Given the description of an element on the screen output the (x, y) to click on. 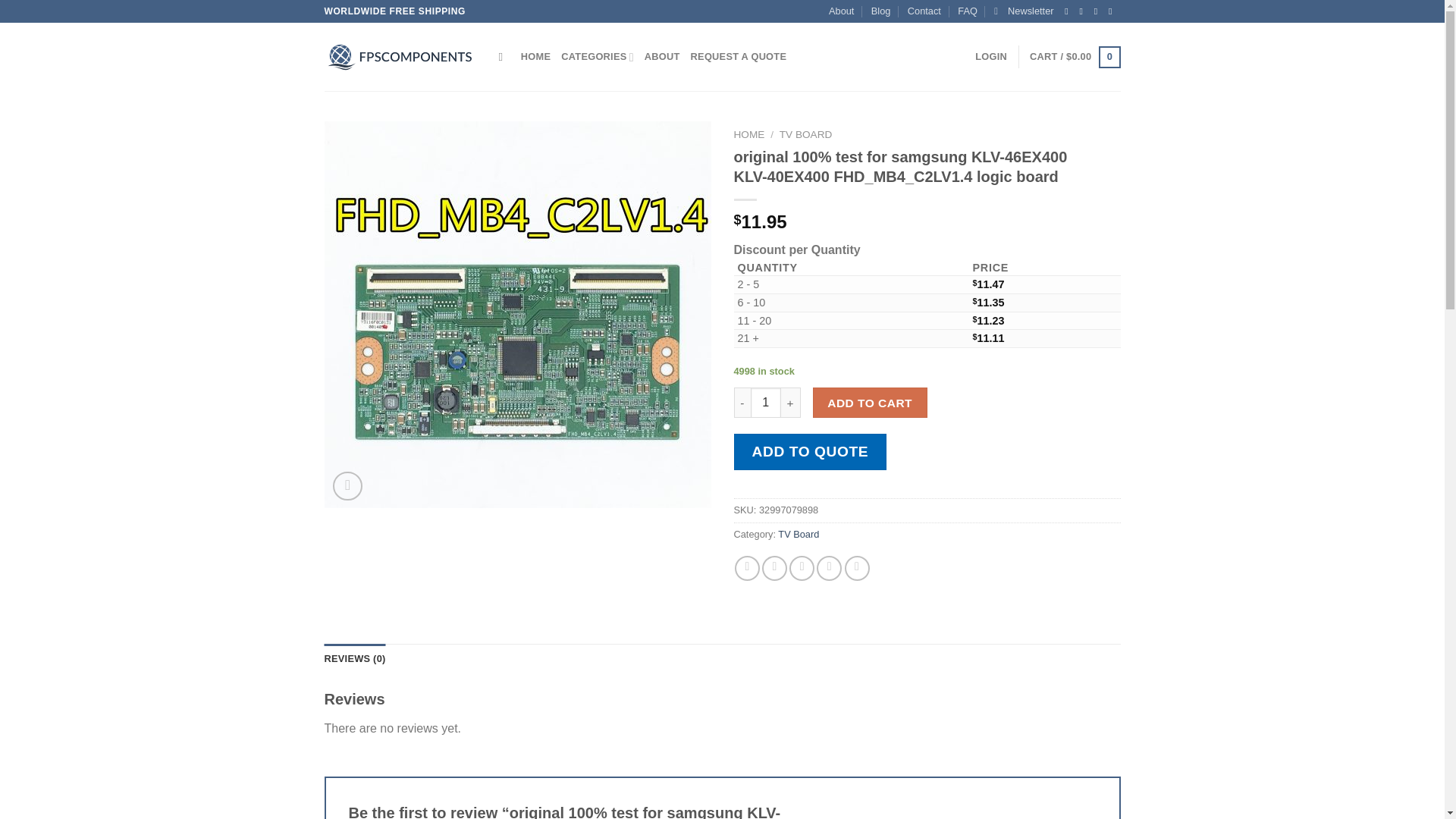
REQUEST A QUOTE (738, 56)
CATEGORIES (596, 56)
Newsletter (1023, 11)
Cart (1074, 57)
LOGIN (991, 56)
Login (991, 56)
Zoom (347, 486)
Sign up for Newsletter (1023, 11)
HOME (535, 56)
1 (765, 402)
